Given the description of an element on the screen output the (x, y) to click on. 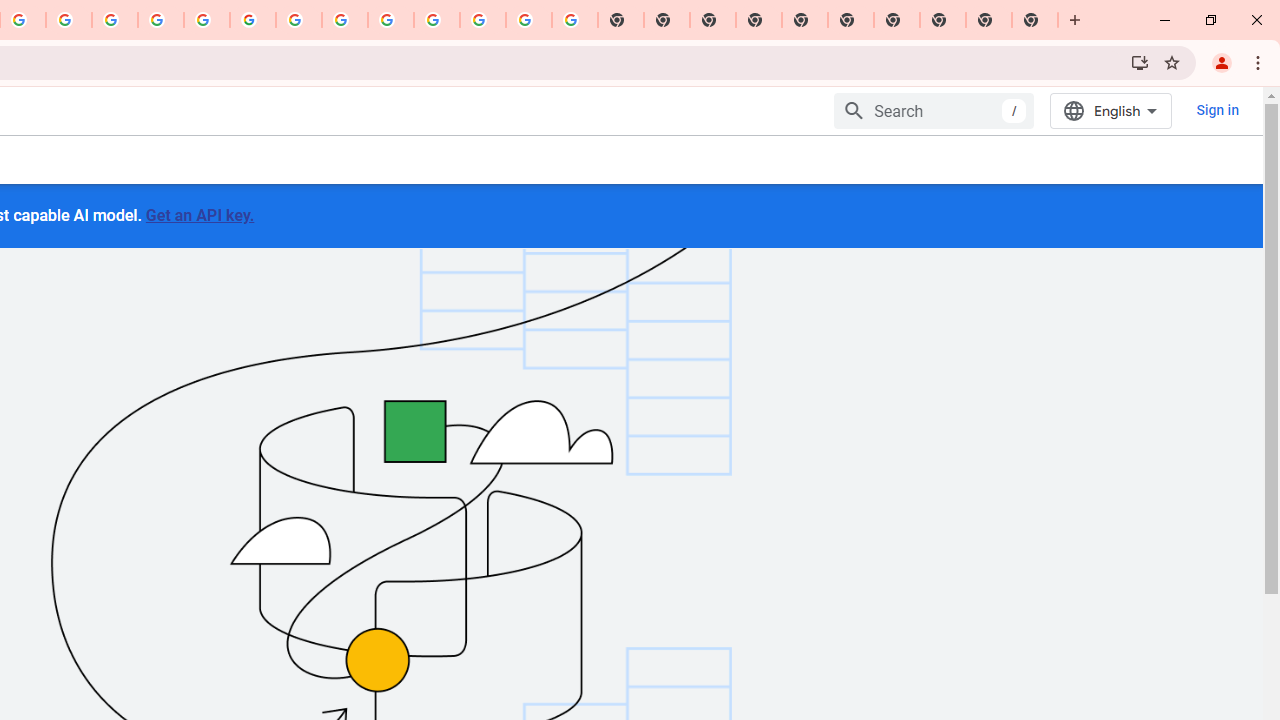
New Tab (1035, 20)
New Tab (759, 20)
Install Google Developers (1139, 62)
